Given the description of an element on the screen output the (x, y) to click on. 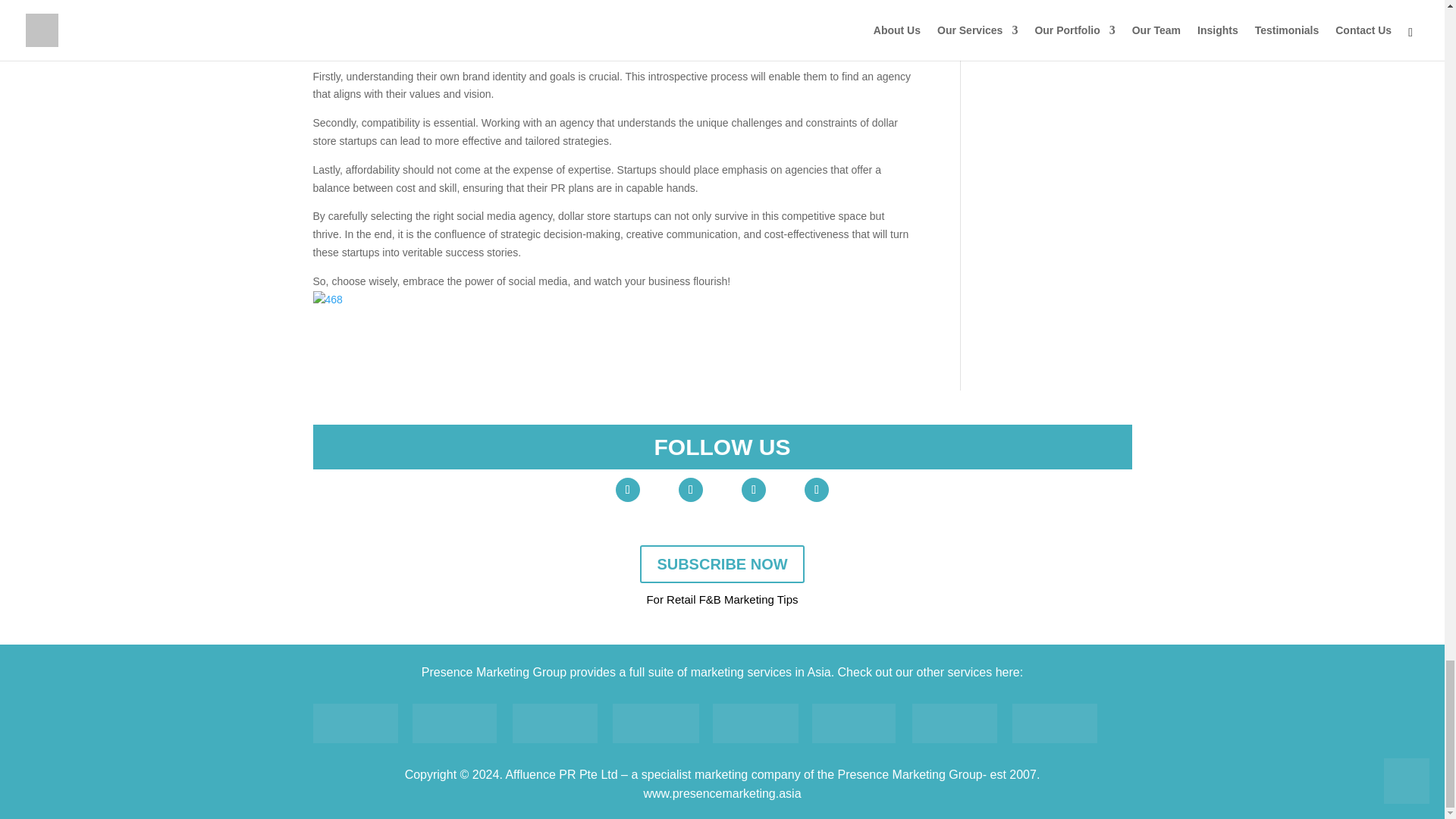
Affluence PR (355, 722)
Eminence Event (755, 722)
Confluence PR (554, 722)
Follow on Facebook (690, 489)
Ambience PR (454, 722)
Decadence Design (655, 722)
Potence PR (853, 722)
Follow on Youtube (627, 489)
Follow on LinkedIn (753, 489)
Follow on Instagram (816, 489)
